Given the description of an element on the screen output the (x, y) to click on. 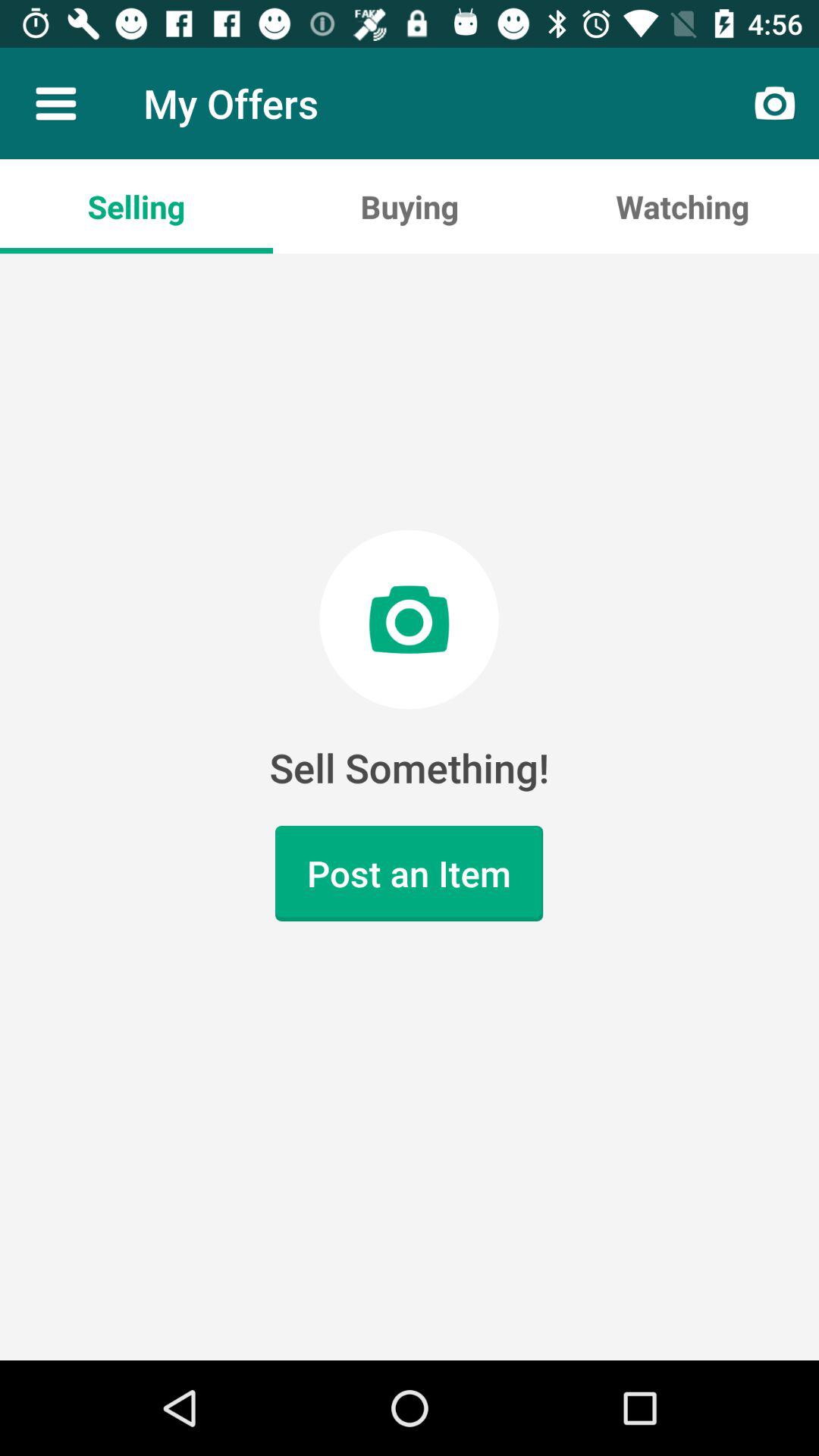
turn off the app next to buying app (682, 206)
